Given the description of an element on the screen output the (x, y) to click on. 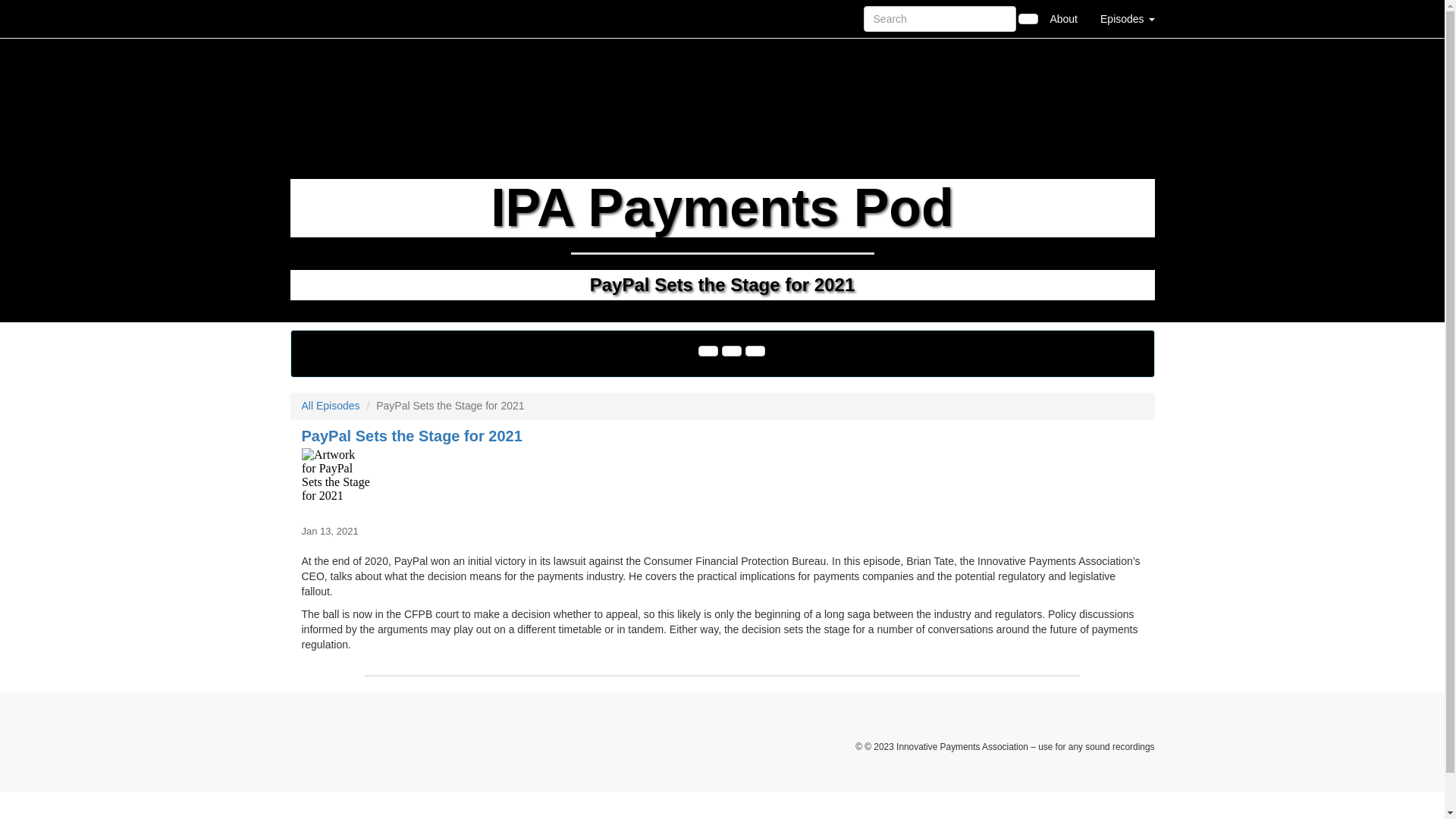
Episodes (1127, 18)
About (1063, 18)
PayPal Sets the Stage for 2021 (721, 481)
Home Page (320, 18)
